Given the description of an element on the screen output the (x, y) to click on. 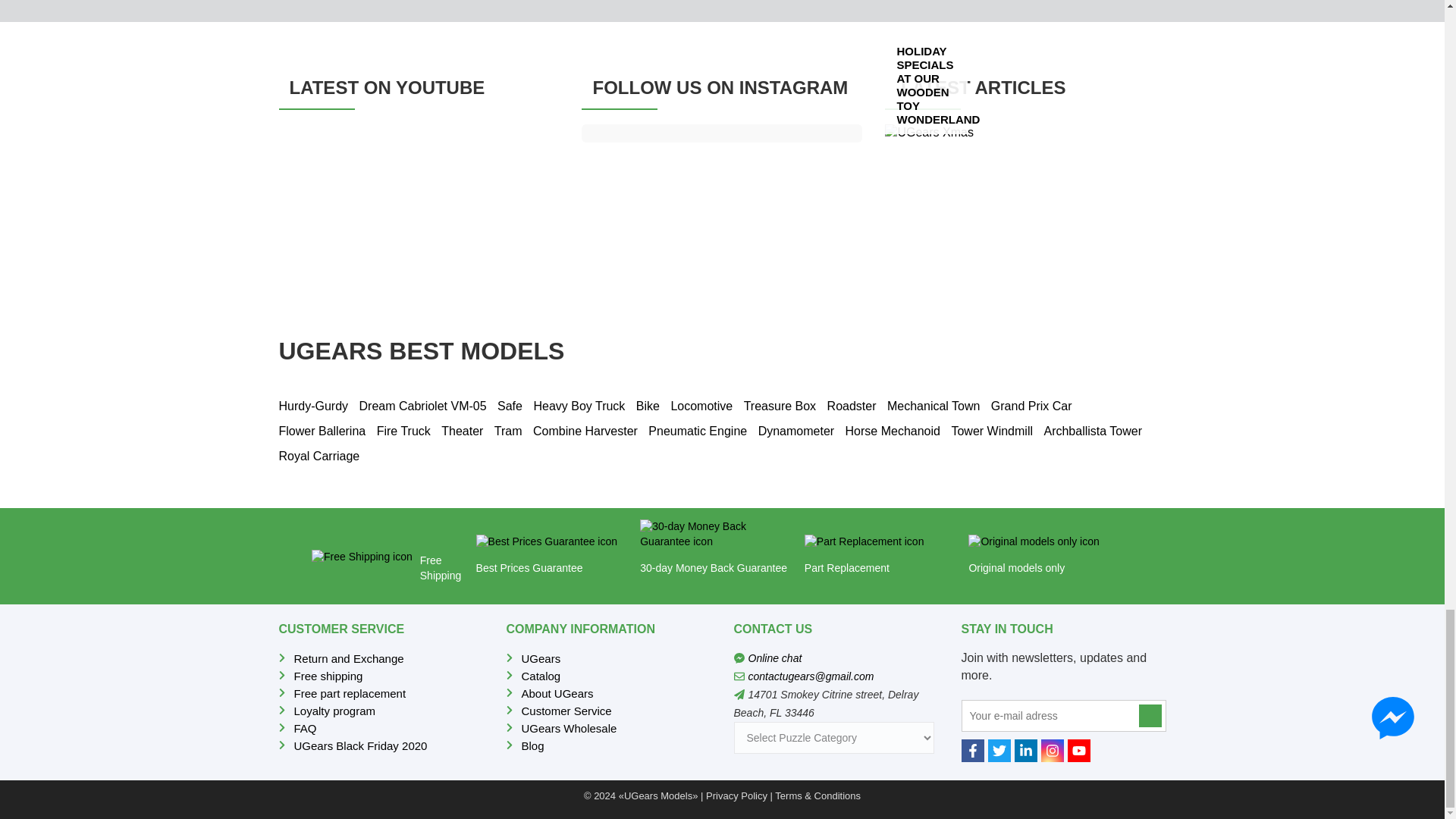
Assembling UGears Amber Box (419, 202)
Send (1149, 715)
